Given the description of an element on the screen output the (x, y) to click on. 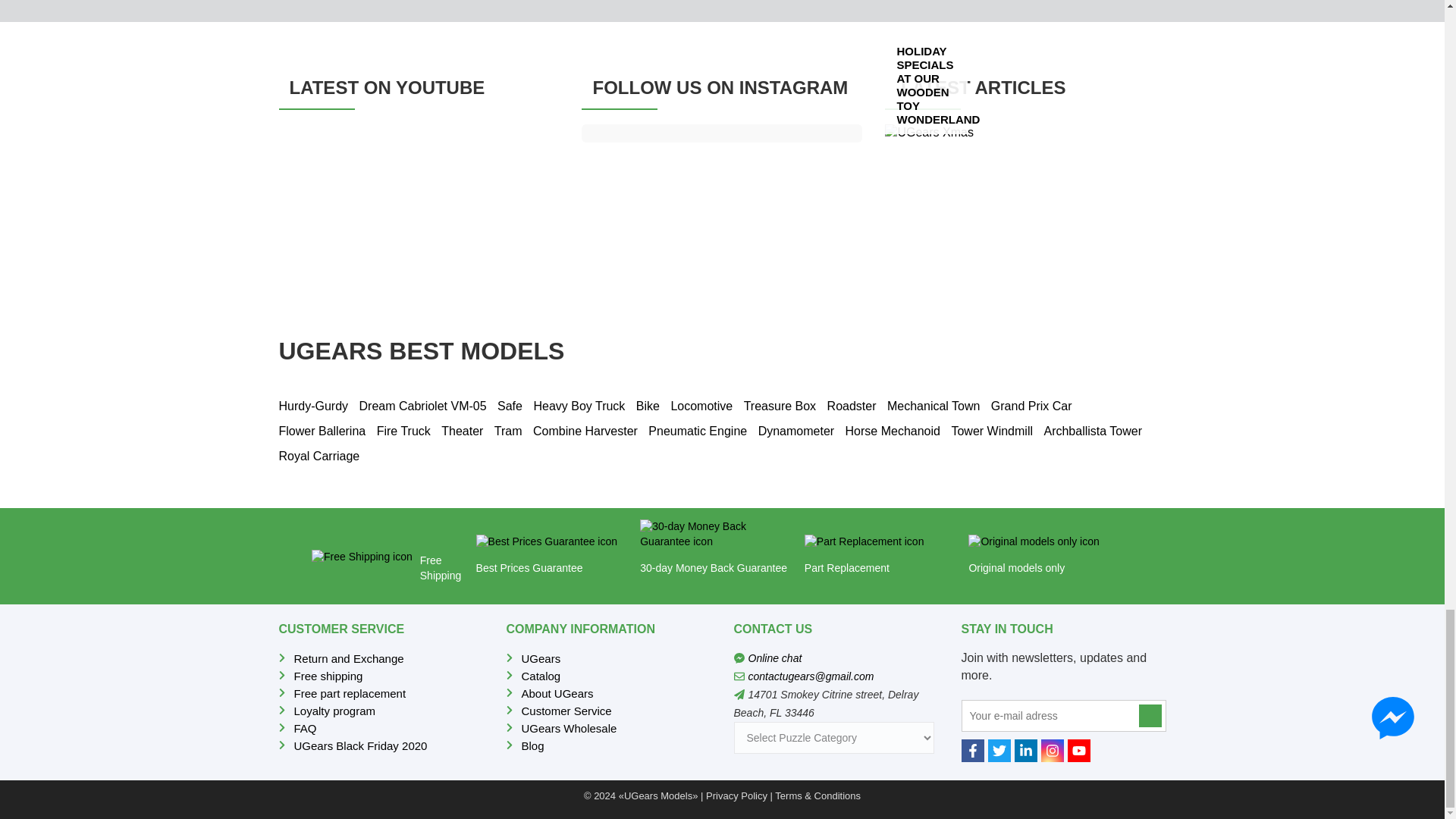
Assembling UGears Amber Box (419, 202)
Send (1149, 715)
